Given the description of an element on the screen output the (x, y) to click on. 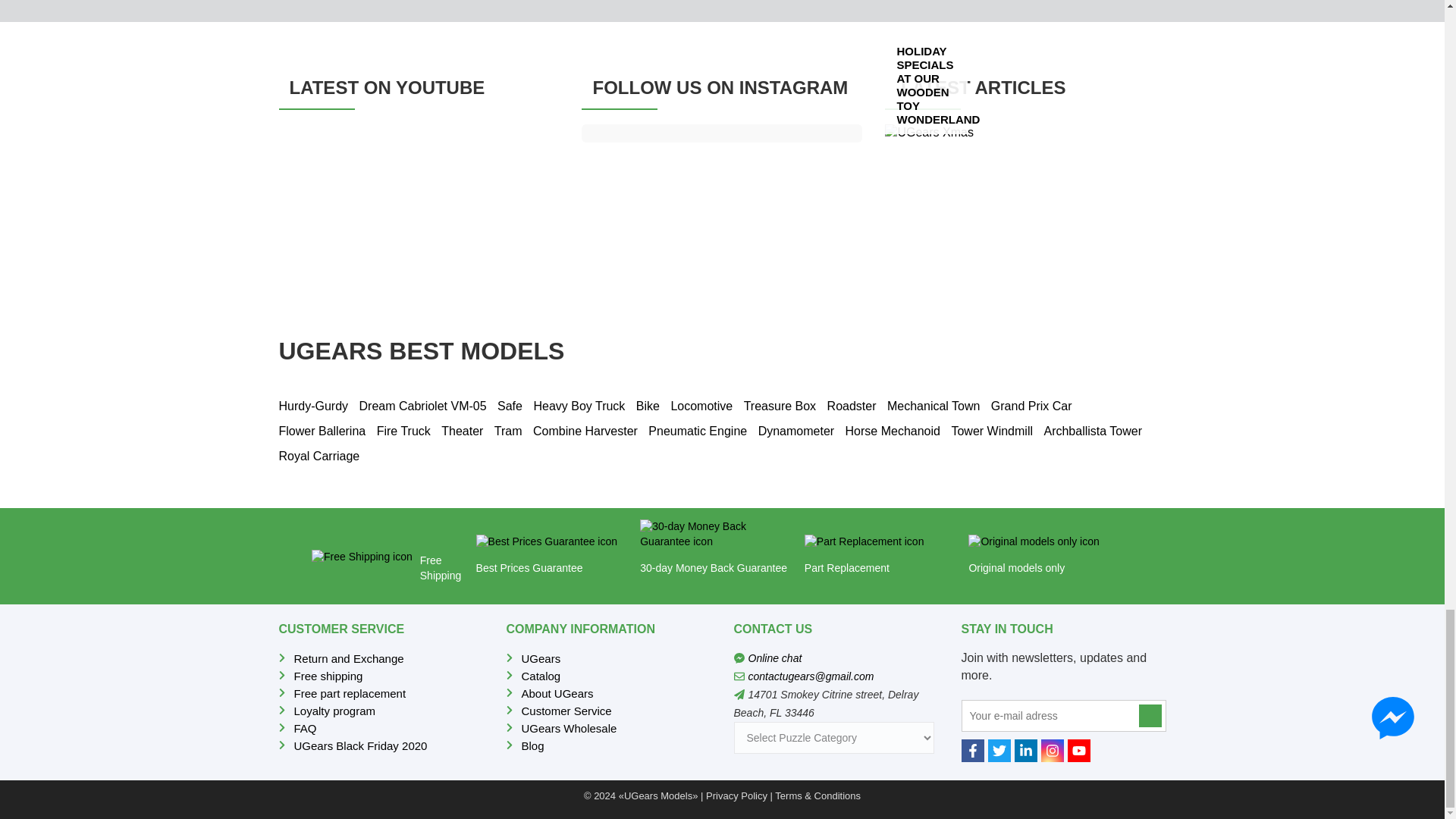
Assembling UGears Amber Box (419, 202)
Send (1149, 715)
